Given the description of an element on the screen output the (x, y) to click on. 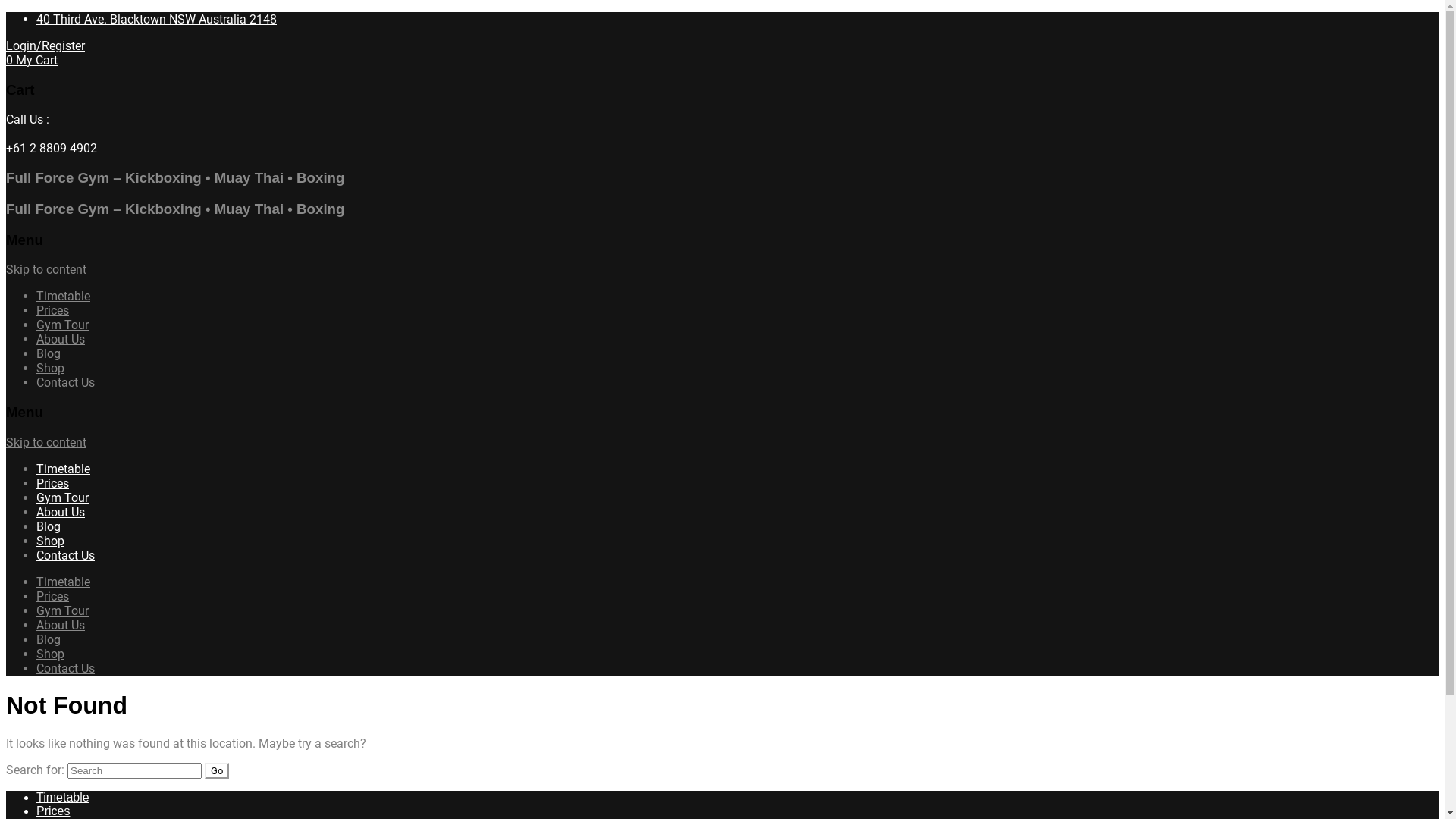
Timetable Element type: text (63, 581)
Blog Element type: text (48, 526)
Skip to content Element type: text (46, 269)
Contact Us Element type: text (65, 555)
Blog Element type: text (48, 353)
Shop Element type: text (50, 653)
Shop Element type: text (50, 367)
Timetable Element type: text (63, 468)
Login/Register Element type: text (45, 45)
Contact Us Element type: text (65, 668)
Prices Element type: text (52, 596)
Gym Tour Element type: text (62, 324)
Gym Tour Element type: text (62, 610)
Gym Tour Element type: text (62, 497)
Timetable Element type: text (63, 295)
Prices Element type: text (52, 810)
Blog Element type: text (48, 639)
Contact Us Element type: text (65, 382)
Go Element type: text (216, 770)
About Us Element type: text (60, 625)
0 My Cart Element type: text (31, 60)
About Us Element type: text (60, 339)
Prices Element type: text (52, 483)
Shop Element type: text (50, 540)
40 Third Ave. Blacktown NSW Australia 2148 Element type: text (156, 19)
Prices Element type: text (52, 310)
About Us Element type: text (60, 512)
Skip to content Element type: text (46, 442)
Timetable Element type: text (62, 796)
